Given the description of an element on the screen output the (x, y) to click on. 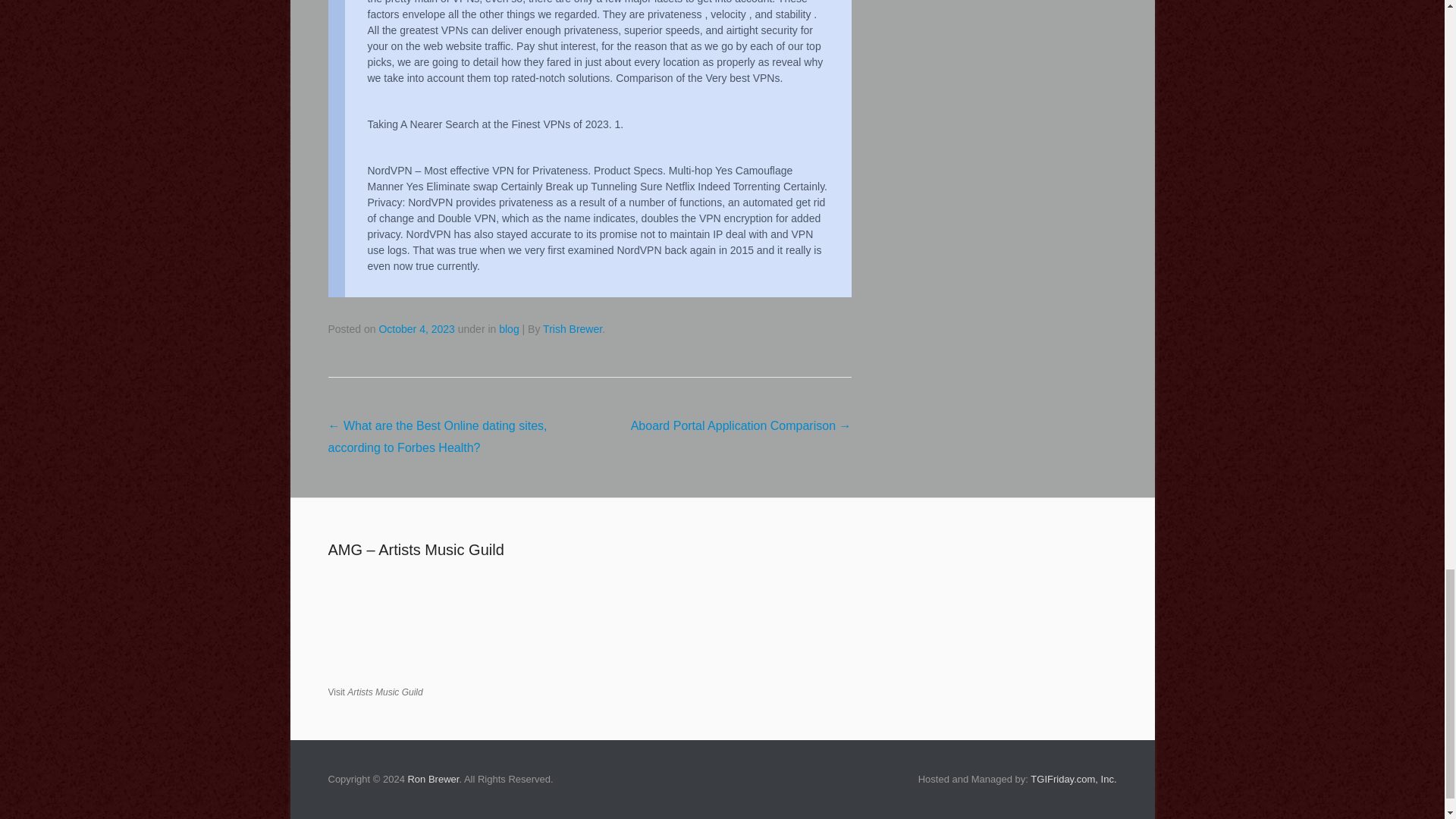
blog (508, 328)
Trish Brewer (572, 328)
Ron Brewer (432, 778)
TGIFriday.com, Inc. (1073, 778)
8:00 pm (416, 328)
Visit Artists Music Guild (374, 692)
Ron Brewer (432, 778)
October 4, 2023 (416, 328)
View all posts by Trish Brewer (572, 328)
